Given the description of an element on the screen output the (x, y) to click on. 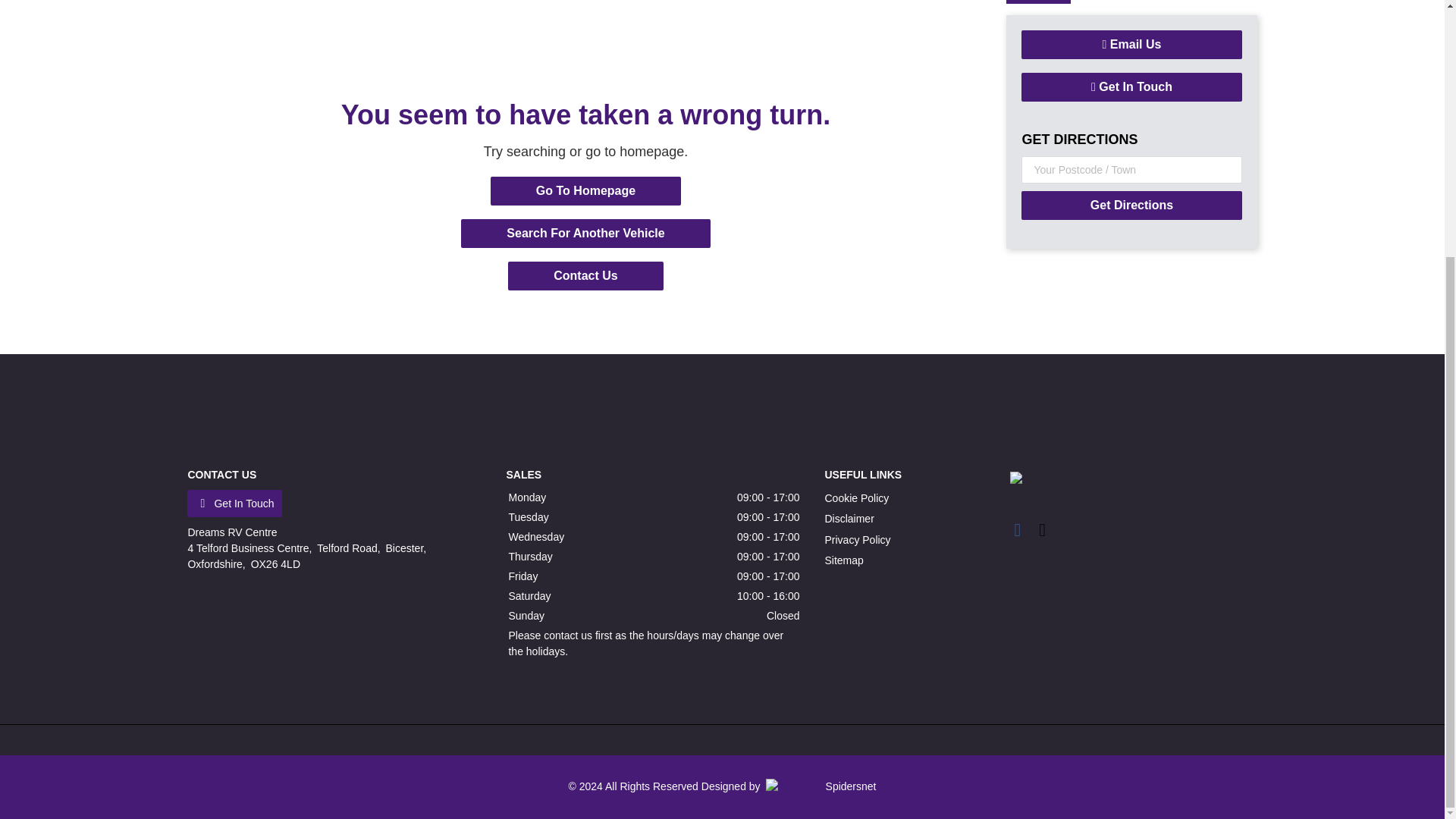
Cookie Policy (856, 498)
Privacy Policy (856, 539)
Go To Homepage (585, 190)
Get In Touch (1131, 86)
Email Us (1131, 44)
Contact Us (585, 275)
Search For Another Vehicle (585, 233)
Sitemap (843, 560)
Get Directions (1131, 205)
Disclaimer (848, 518)
